Given the description of an element on the screen output the (x, y) to click on. 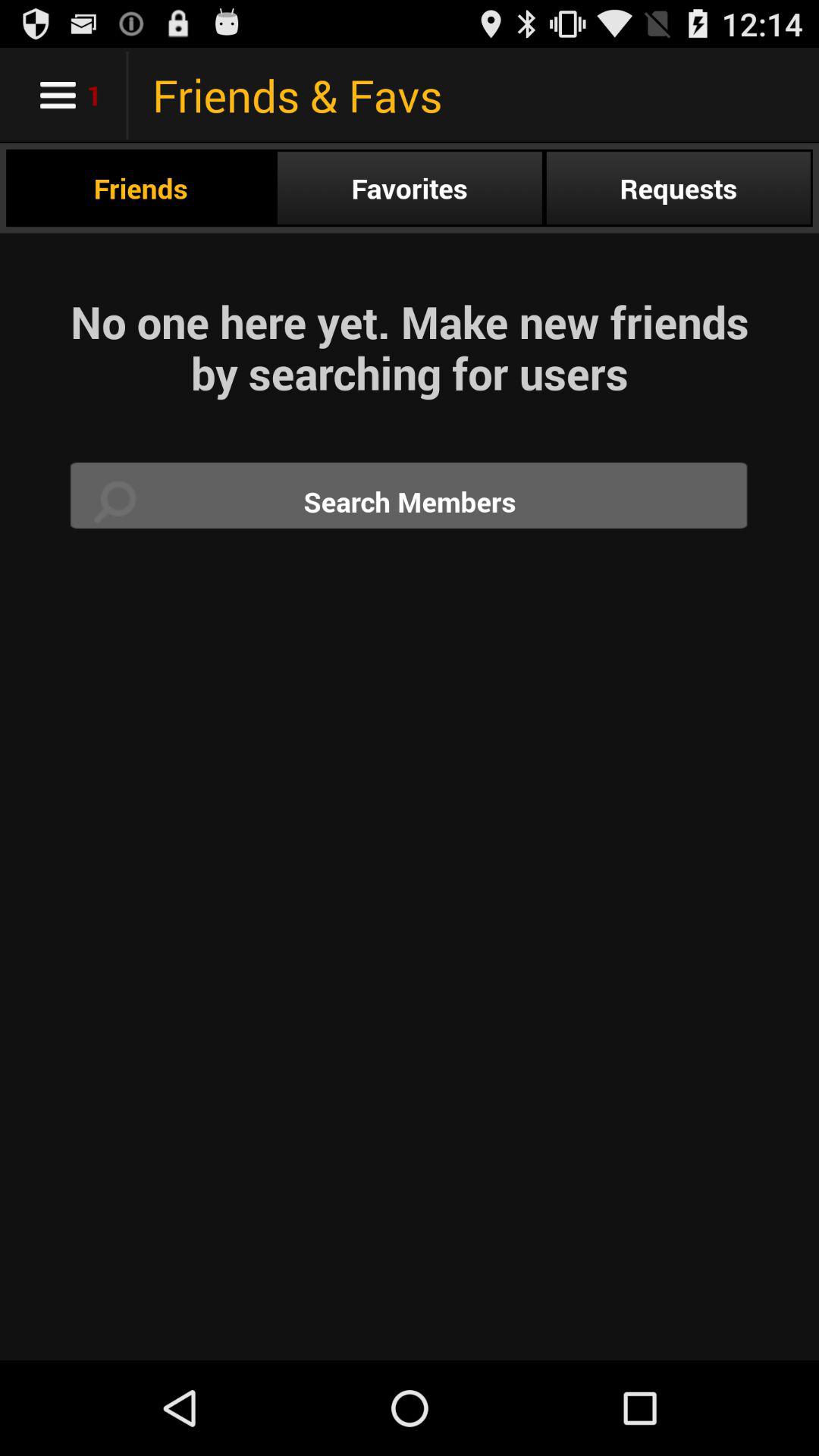
press radio button to the right of favorites radio button (678, 187)
